Given the description of an element on the screen output the (x, y) to click on. 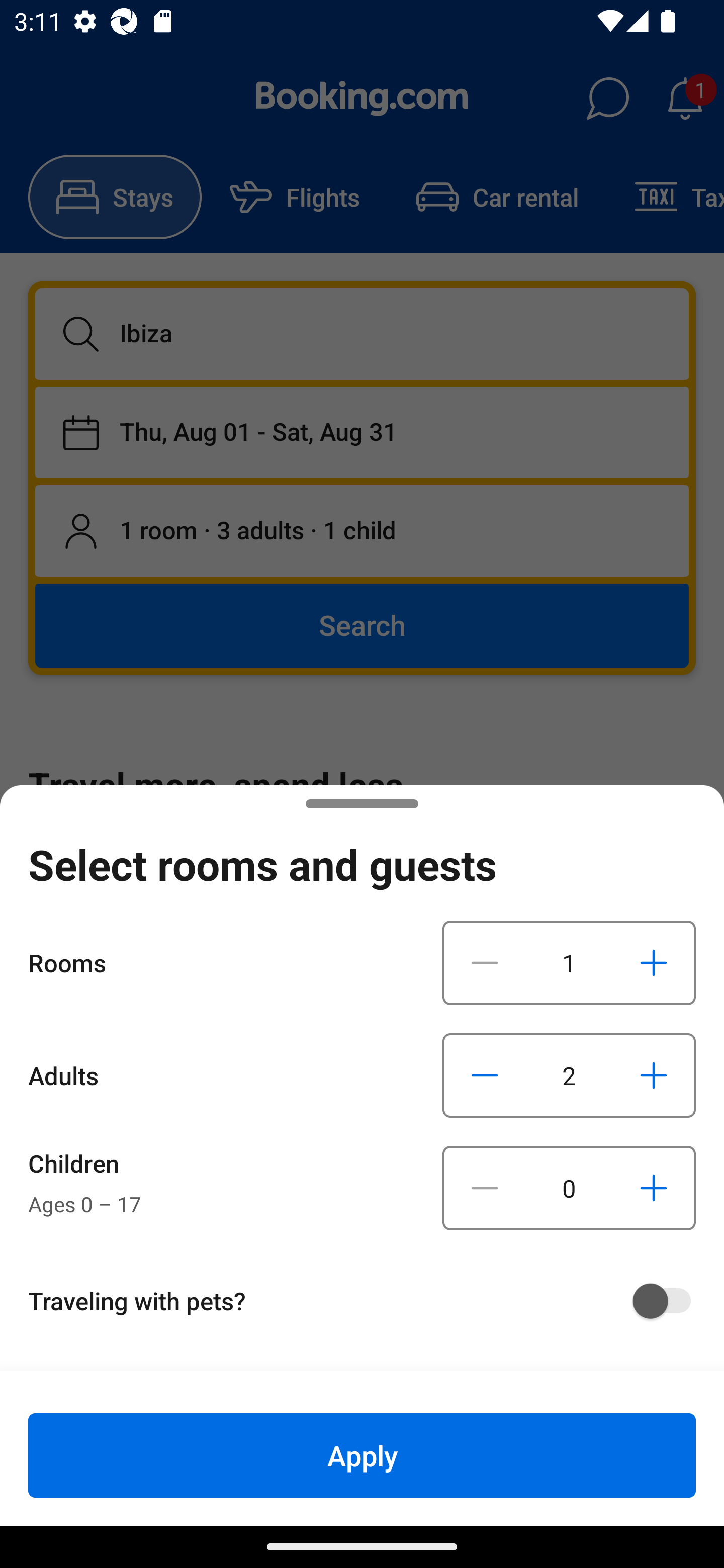
Decrease (484, 962)
Increase (653, 962)
Decrease (484, 1075)
Increase (653, 1075)
Decrease (484, 1188)
Increase (653, 1188)
Traveling with pets? (369, 1300)
Apply (361, 1454)
